Given the description of an element on the screen output the (x, y) to click on. 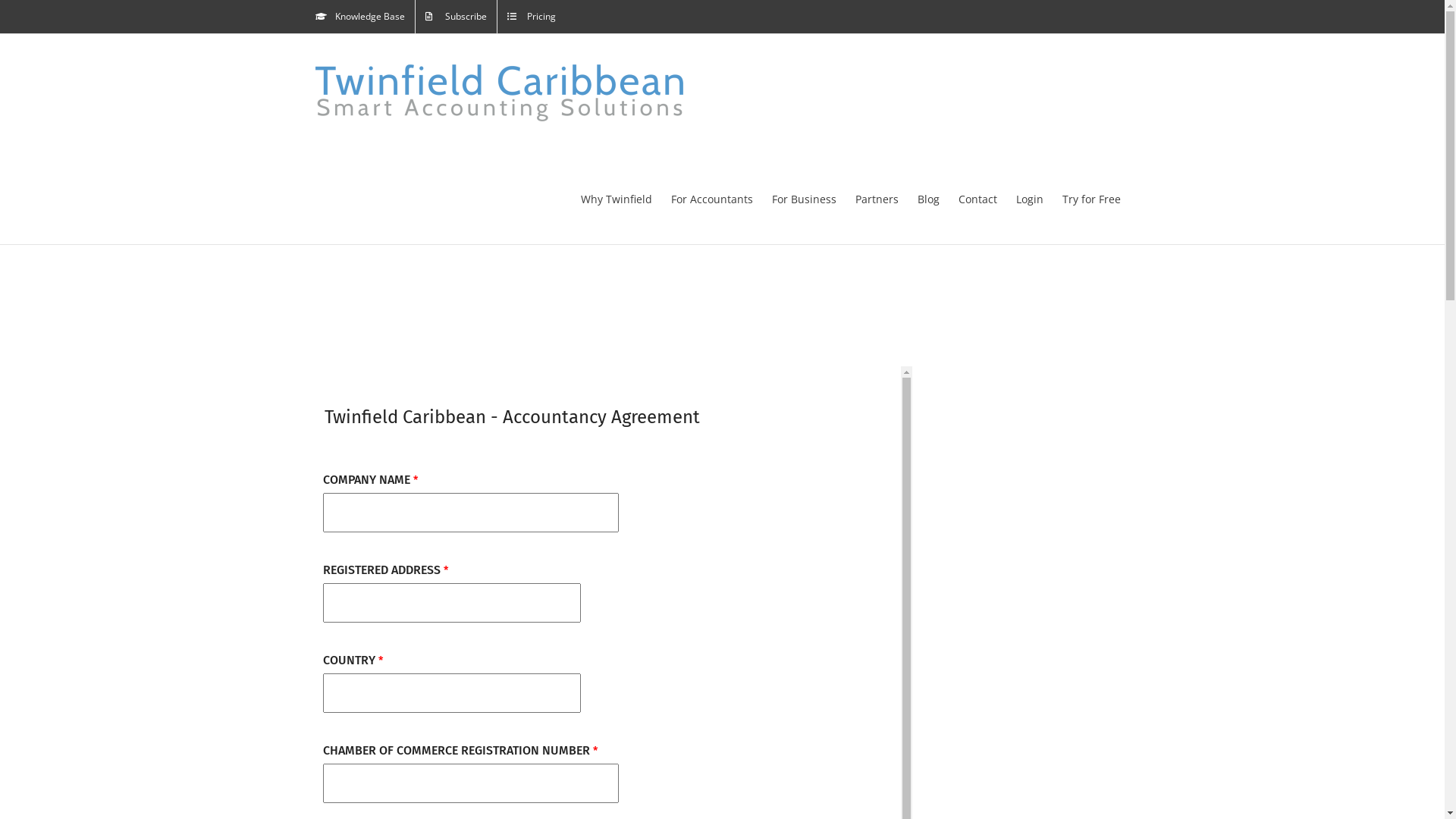
Pricing Element type: text (531, 16)
Blog Element type: text (928, 198)
Subscribe Element type: text (455, 16)
Partners Element type: text (876, 198)
Login Element type: text (1029, 198)
Why Twinfield Element type: text (616, 198)
Contact Element type: text (977, 198)
For Accountants Element type: text (711, 198)
For Business Element type: text (803, 198)
Knowledge Base Element type: text (359, 16)
Try for Free Element type: text (1090, 198)
